Given the description of an element on the screen output the (x, y) to click on. 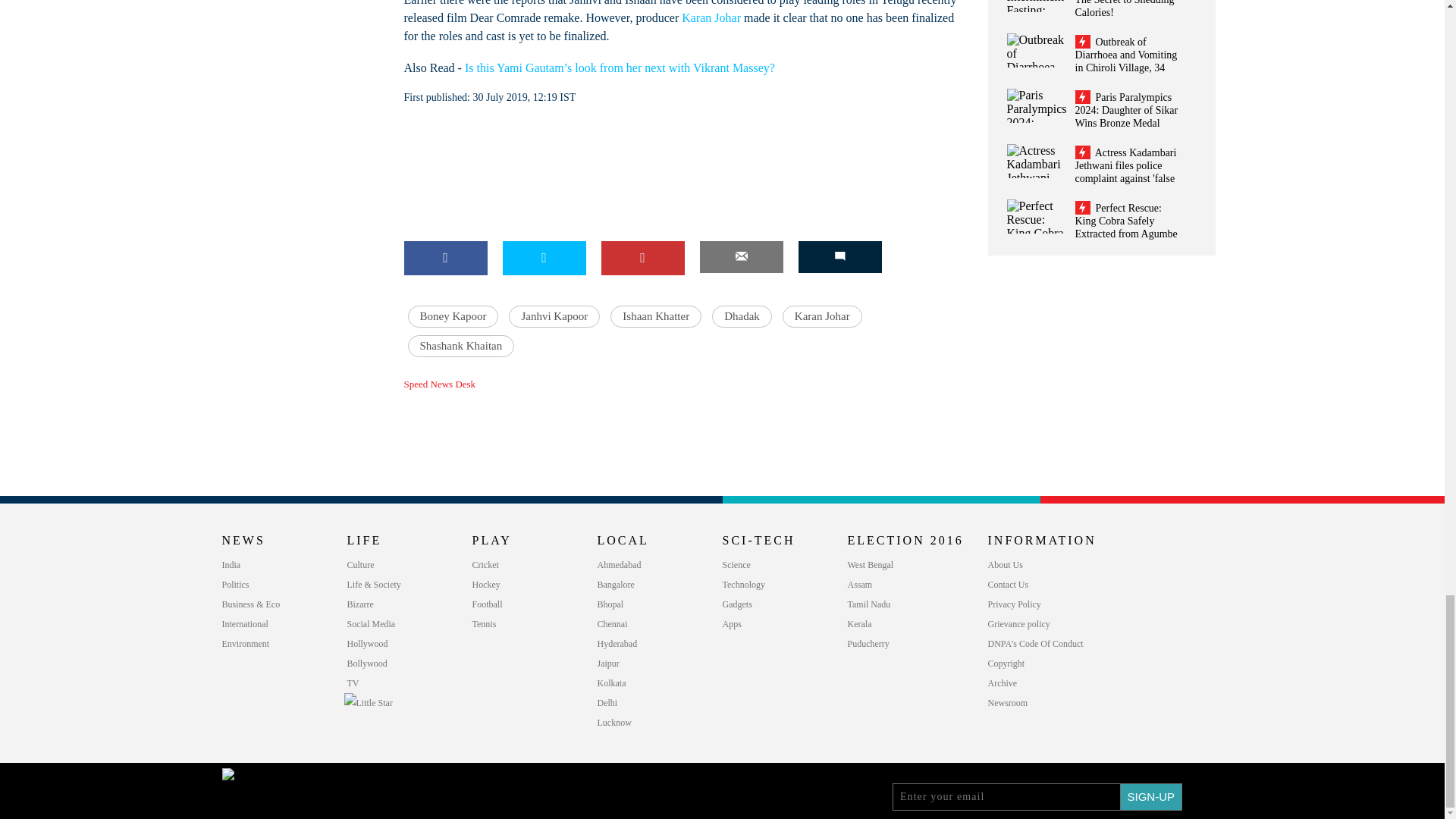
Dhadak (741, 316)
Shashank Khaitan (461, 345)
Ishaan Khatter (655, 316)
Janhvi Kapoor (553, 316)
Karan Johar (822, 316)
SIGN-UP (1150, 796)
Boney Kapoor (453, 316)
